Given the description of an element on the screen output the (x, y) to click on. 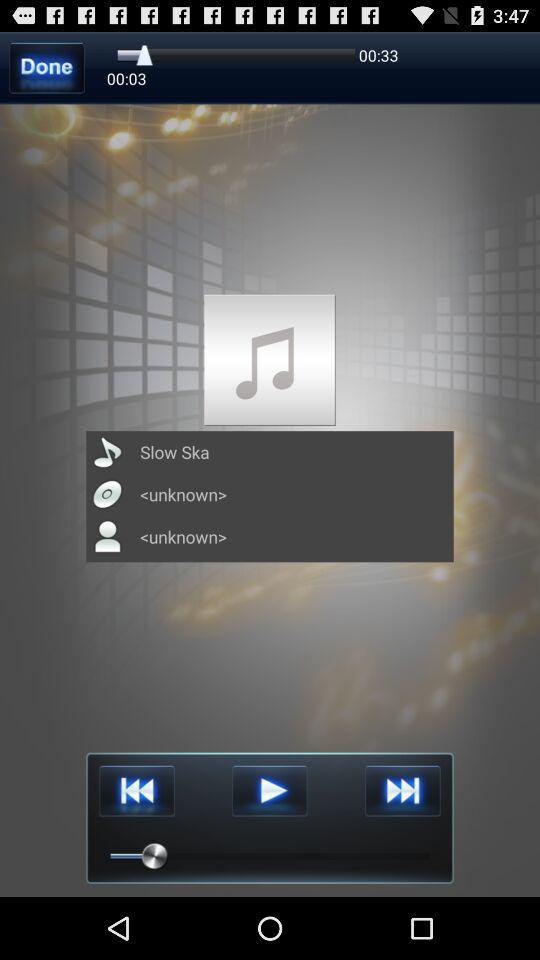
toggle play (269, 790)
